Given the description of an element on the screen output the (x, y) to click on. 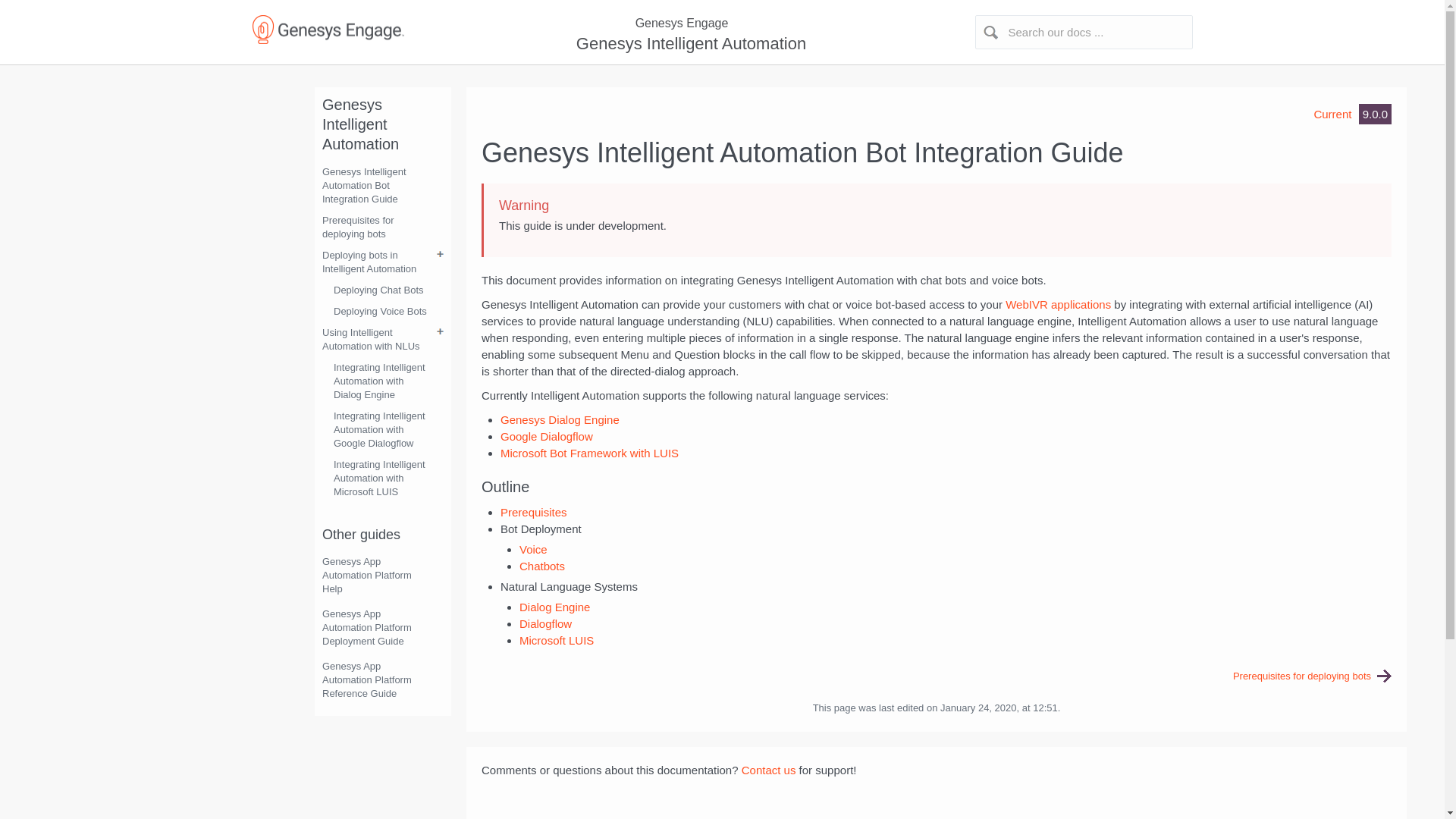
Genesys Intelligent Automation (689, 43)
Search Genesys Documentation (1083, 32)
Click to expand (721, 23)
